Given the description of an element on the screen output the (x, y) to click on. 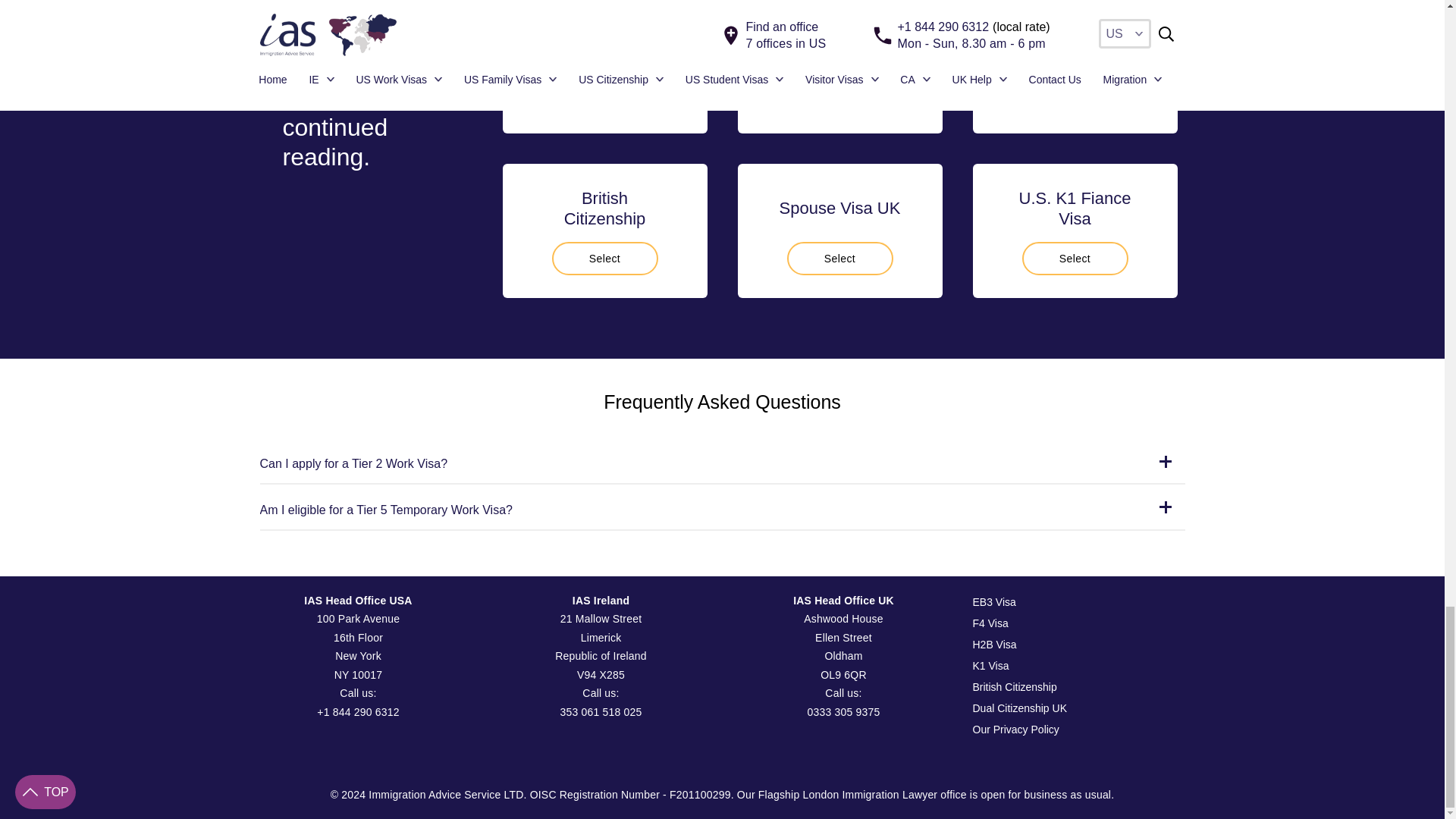
Read more about British Citizenship (604, 258)
Read more about Immigration Attorneys (604, 93)
Read more about U.S. K1 Fiance Visa (1075, 258)
Read more about U.S Citizenship (1075, 93)
Read more about U.S. Visas (840, 93)
Read more about Spouse Visa UK (840, 258)
